Given the description of an element on the screen output the (x, y) to click on. 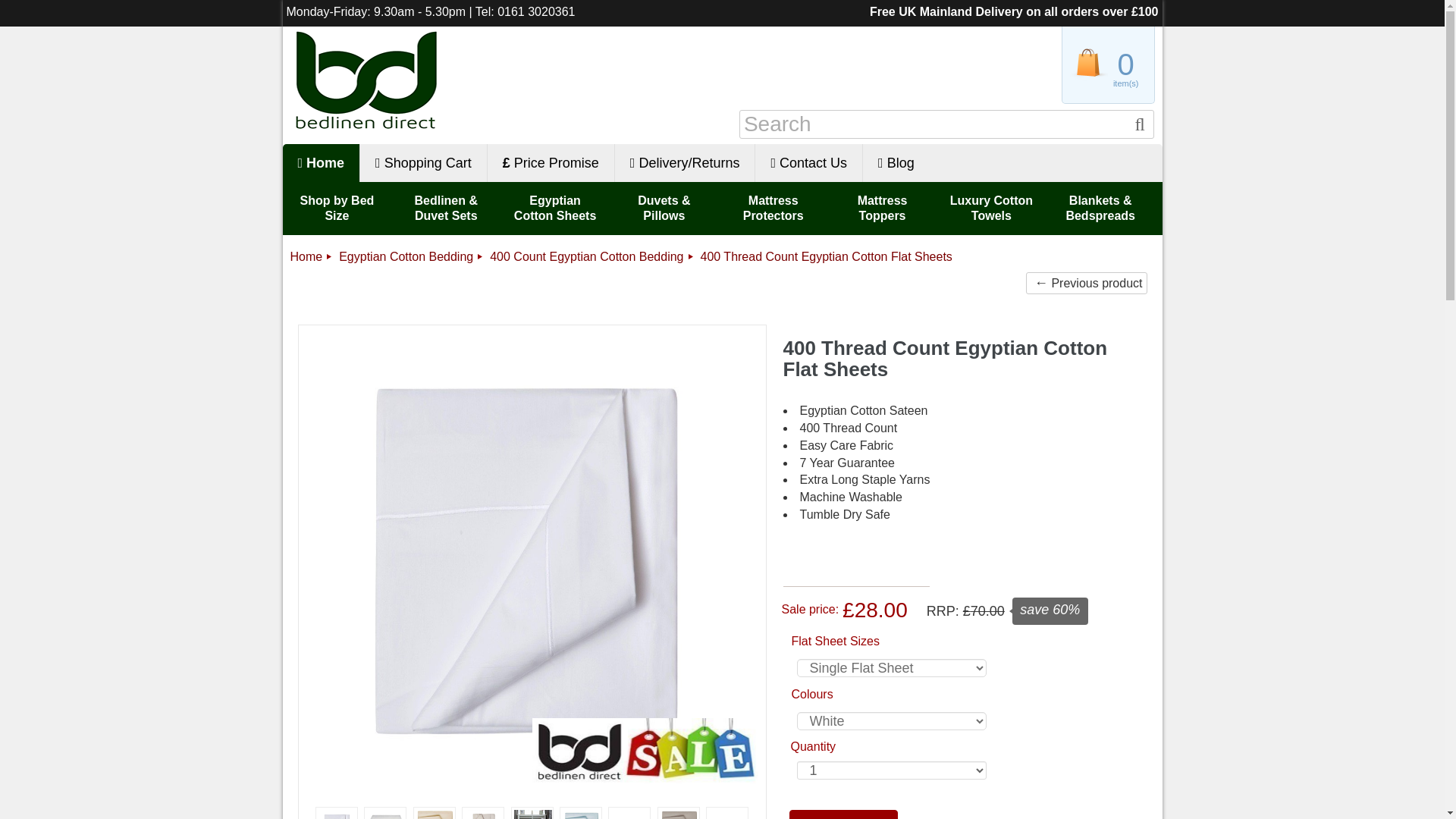
Pewter 400 Thread Count Egyptian Cotton Flat Sheets (679, 812)
Cream 400 Thread Count Egyptian Cotton Flat Sheets (435, 814)
Mulberry 400 Thread Count Egyptian Cotton Flat Sheets (532, 812)
White 400 Thread Count Egyptian Cotton Flat Sheets (336, 812)
Pewter 400 Thread Count Egyptian Cotton Flat Sheets (679, 814)
Platinum Silver 400 Thread Count Egyptian Cotton Flat Sheets (629, 812)
 Shopping Cart (422, 162)
Blush Pink 400 Thread Count Egyptian Cotton Flat Sheets (727, 812)
 Home (320, 162)
 Blog (895, 162)
Cream 400 Thread Count Egyptian Cotton Flat Sheets (434, 812)
Ivory 400 Thread Count Egyptian Cotton Flat Sheets (385, 814)
Oyster 400 Thread Count Egyptian Cotton Flat Sheets (483, 814)
White 400 Thread Count Egyptian Cotton Flat Sheets (337, 814)
Shop by Bed Size (336, 208)
